Given the description of an element on the screen output the (x, y) to click on. 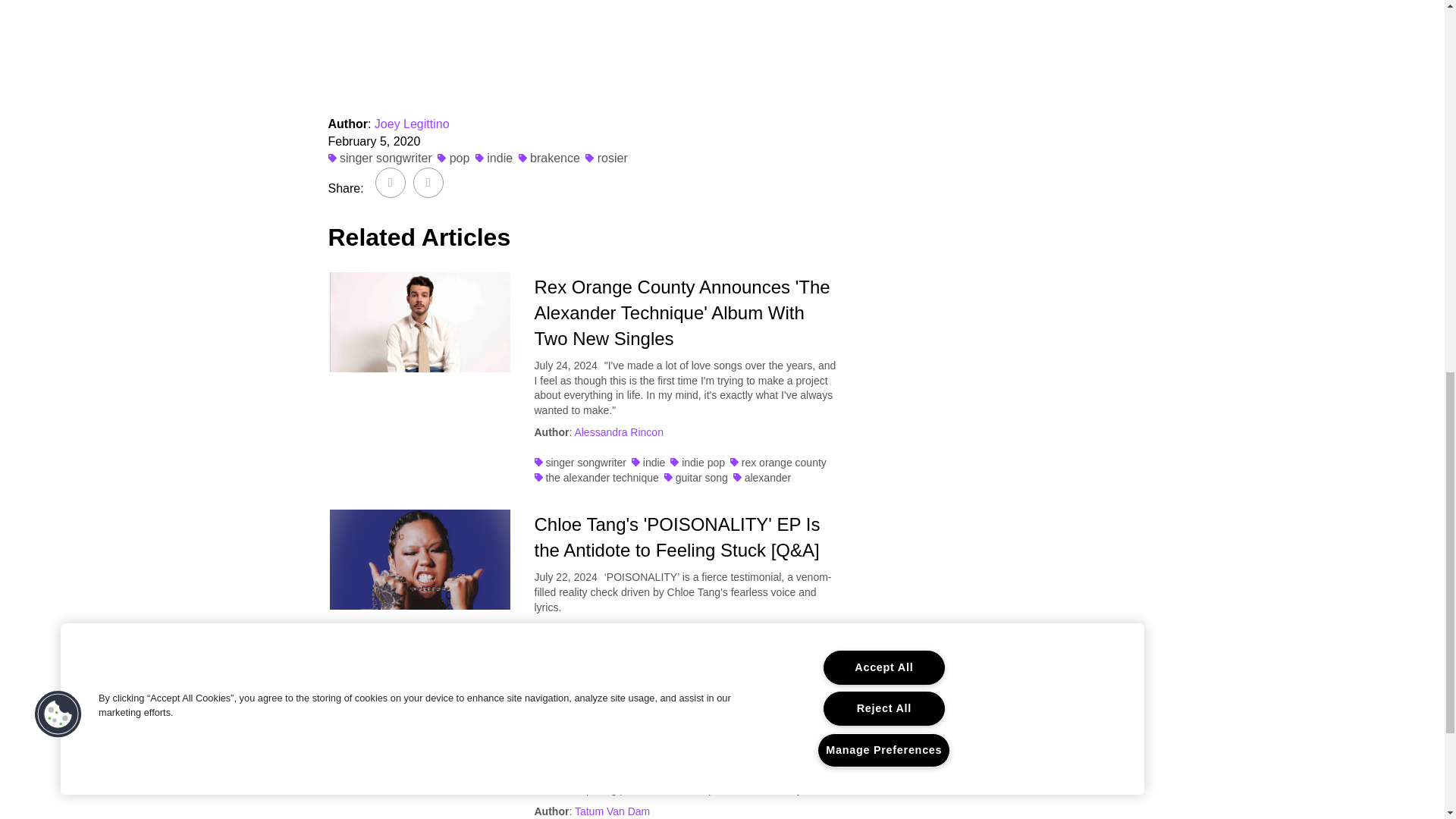
Joey Legittino (411, 123)
